Given the description of an element on the screen output the (x, y) to click on. 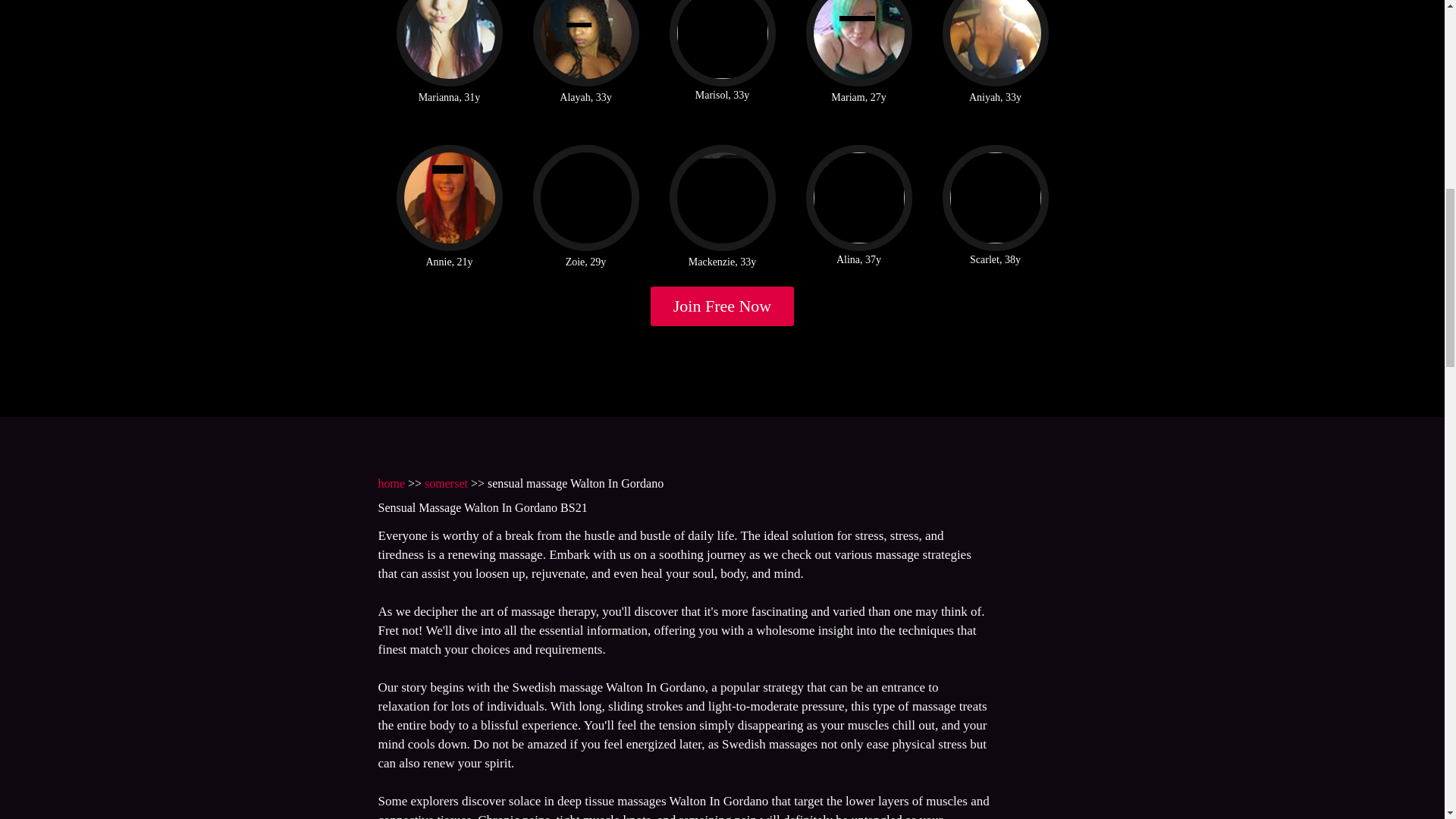
Join (722, 305)
home (390, 482)
somerset (446, 482)
Join Free Now (722, 305)
